Given the description of an element on the screen output the (x, y) to click on. 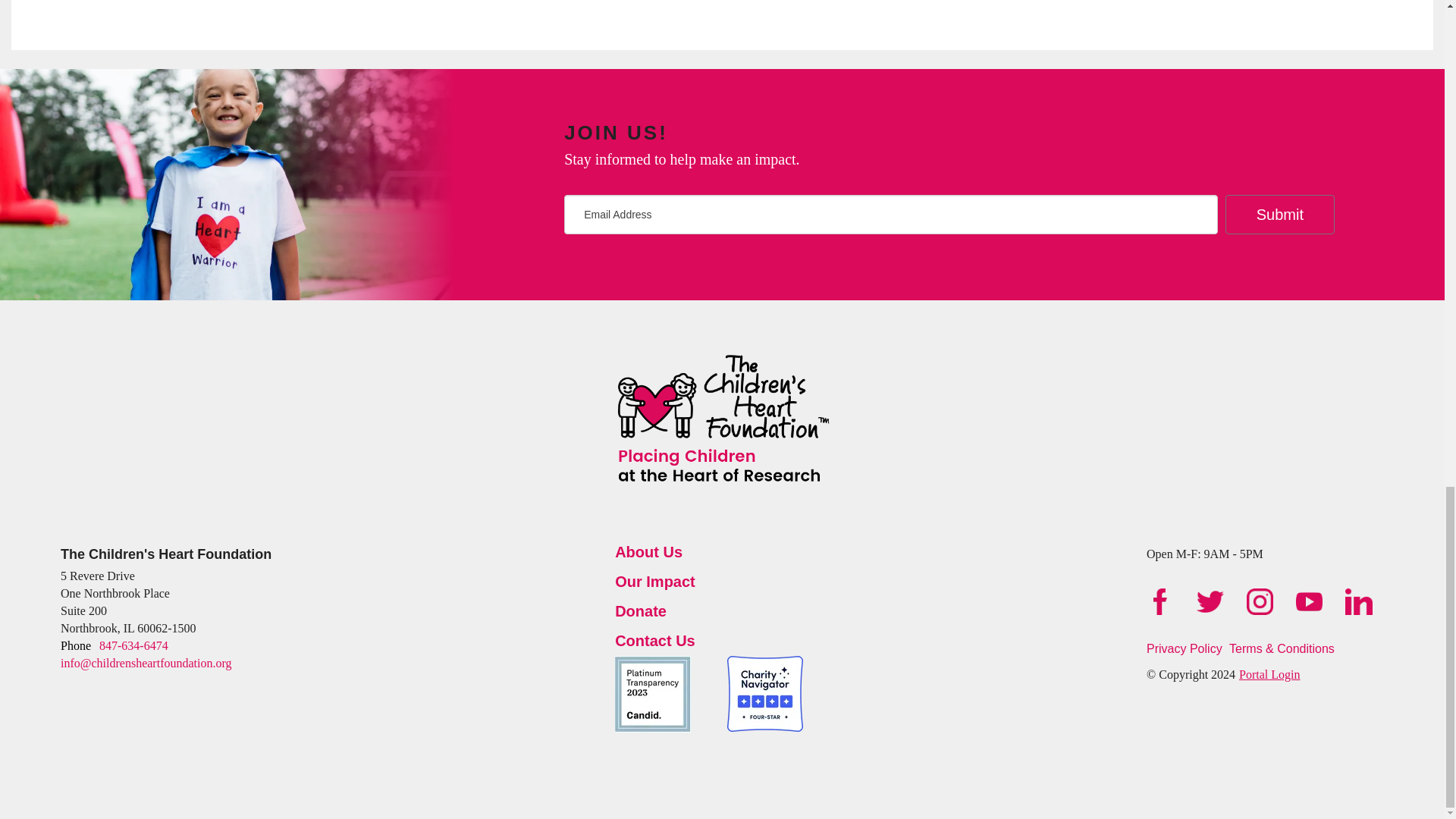
logo (722, 420)
Email Address (890, 214)
Submit (1280, 214)
